Given the description of an element on the screen output the (x, y) to click on. 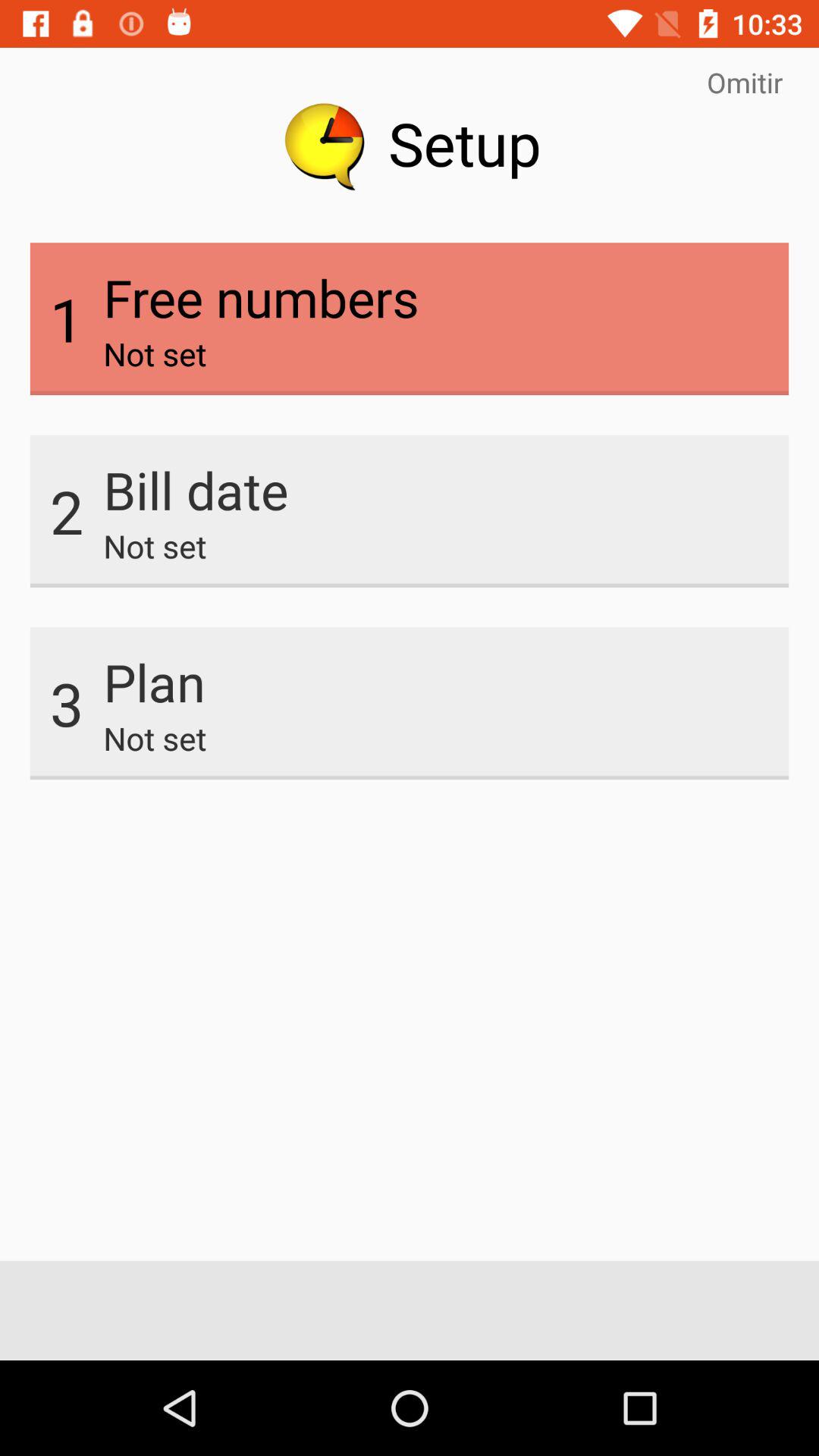
select omitir (744, 82)
